Given the description of an element on the screen output the (x, y) to click on. 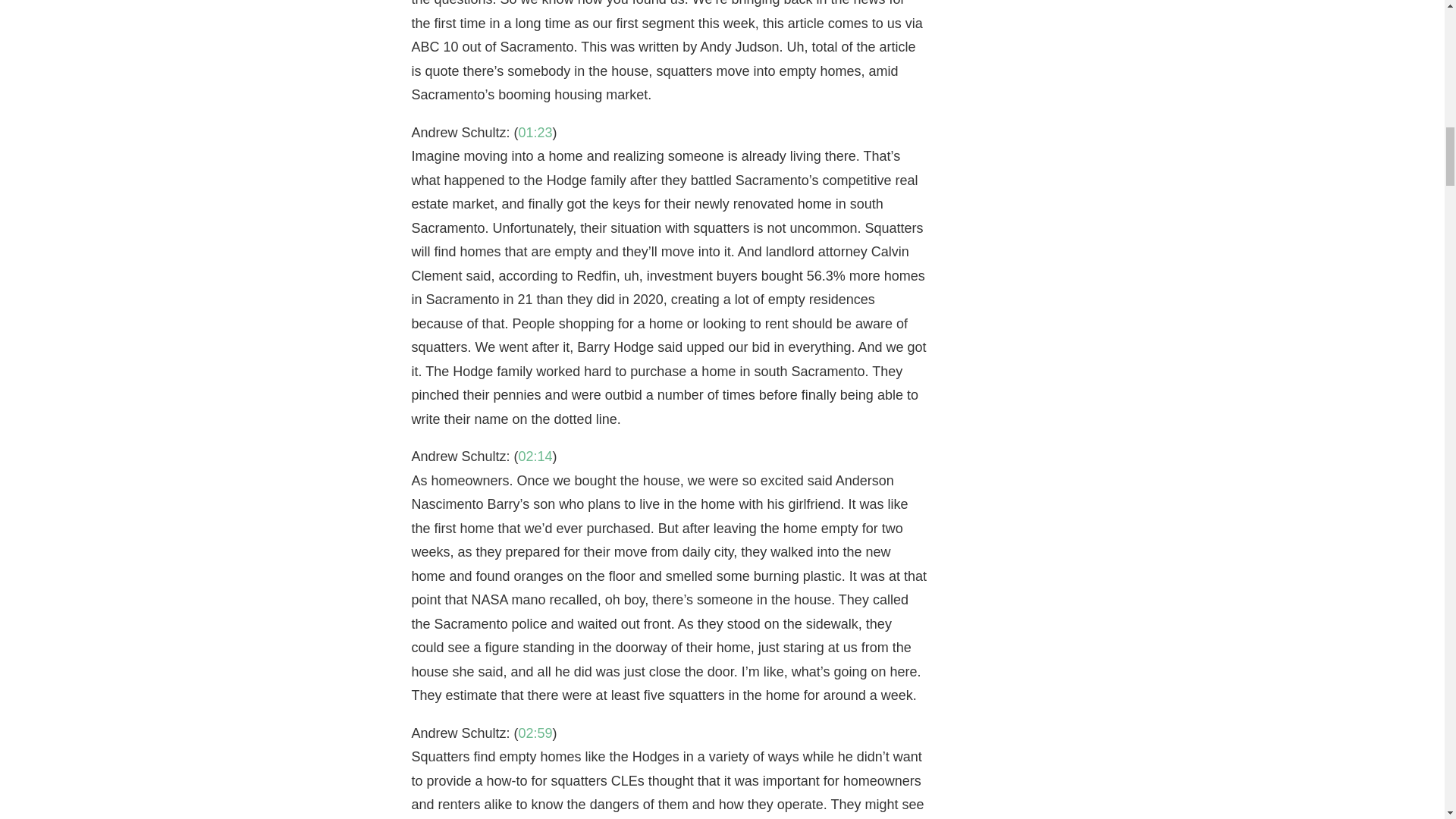
02:59 (535, 732)
02:14 (535, 456)
01:23 (535, 131)
